Given the description of an element on the screen output the (x, y) to click on. 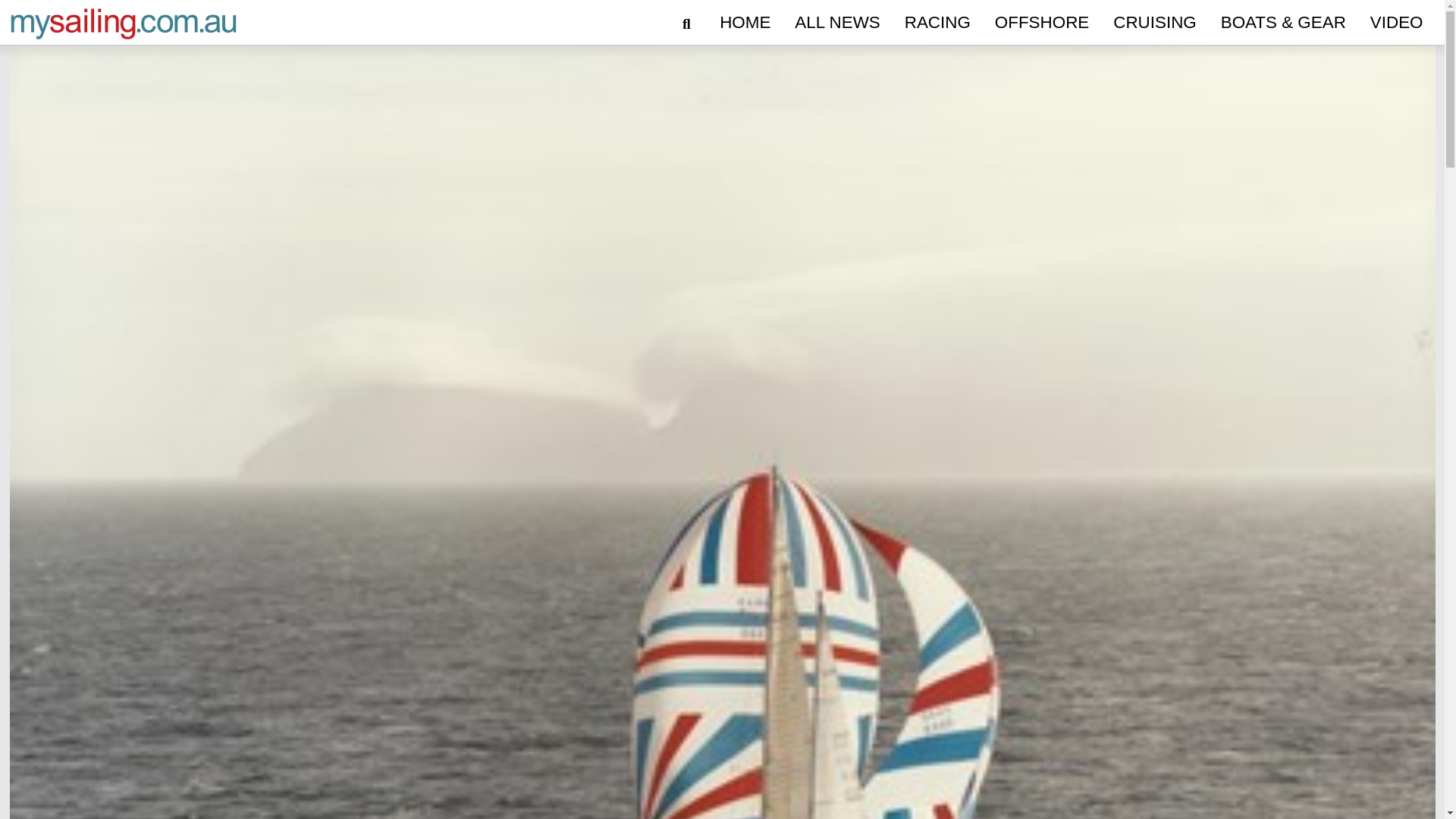
RACING (937, 22)
VIDEO (1396, 22)
Cruising (1154, 22)
Home (744, 22)
Offshore (1041, 22)
All News (837, 22)
CRUISING (1154, 22)
Video (1396, 22)
OFFSHORE (1041, 22)
Racing (937, 22)
